Given the description of an element on the screen output the (x, y) to click on. 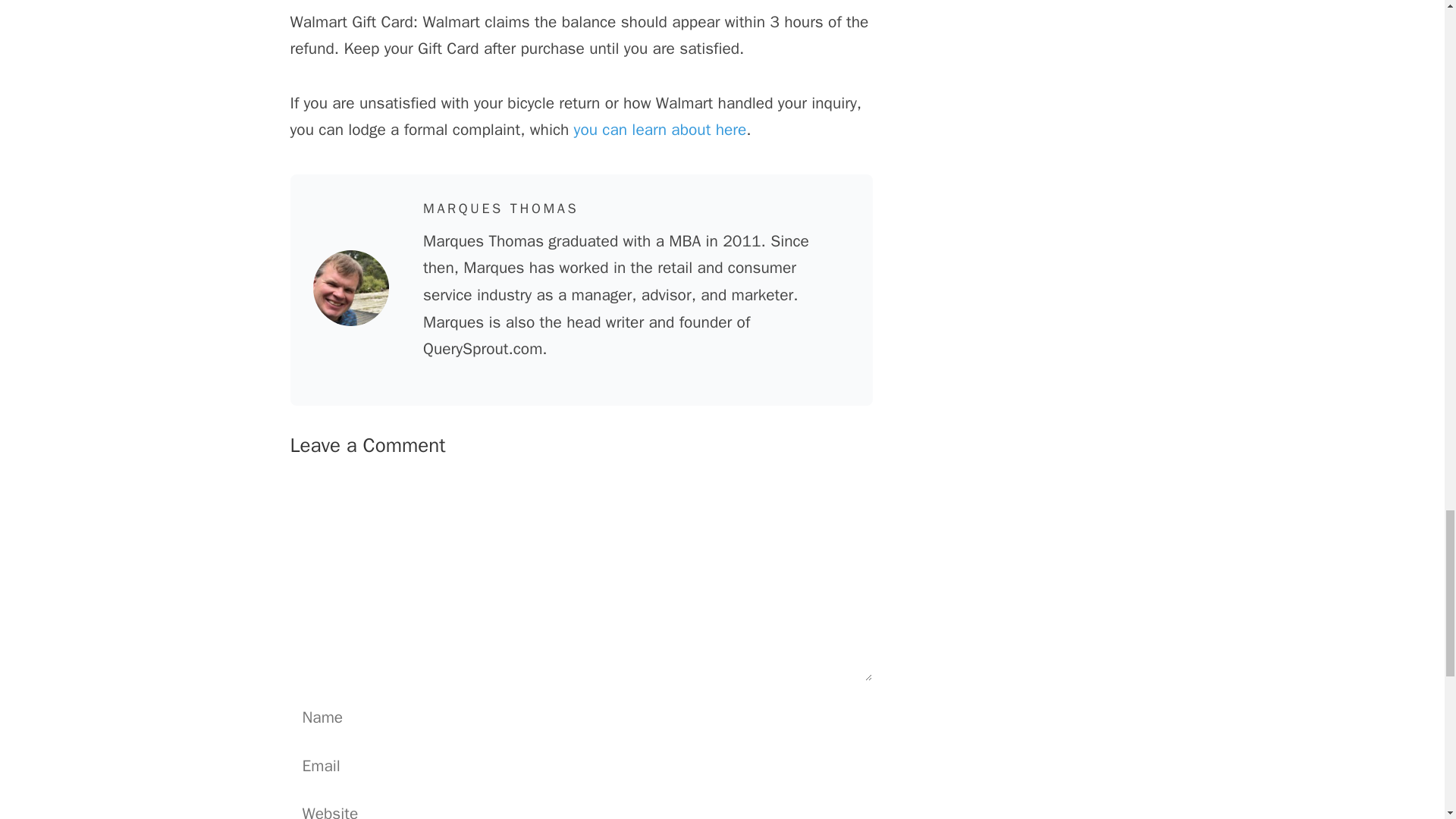
you can learn about here (659, 129)
